Given the description of an element on the screen output the (x, y) to click on. 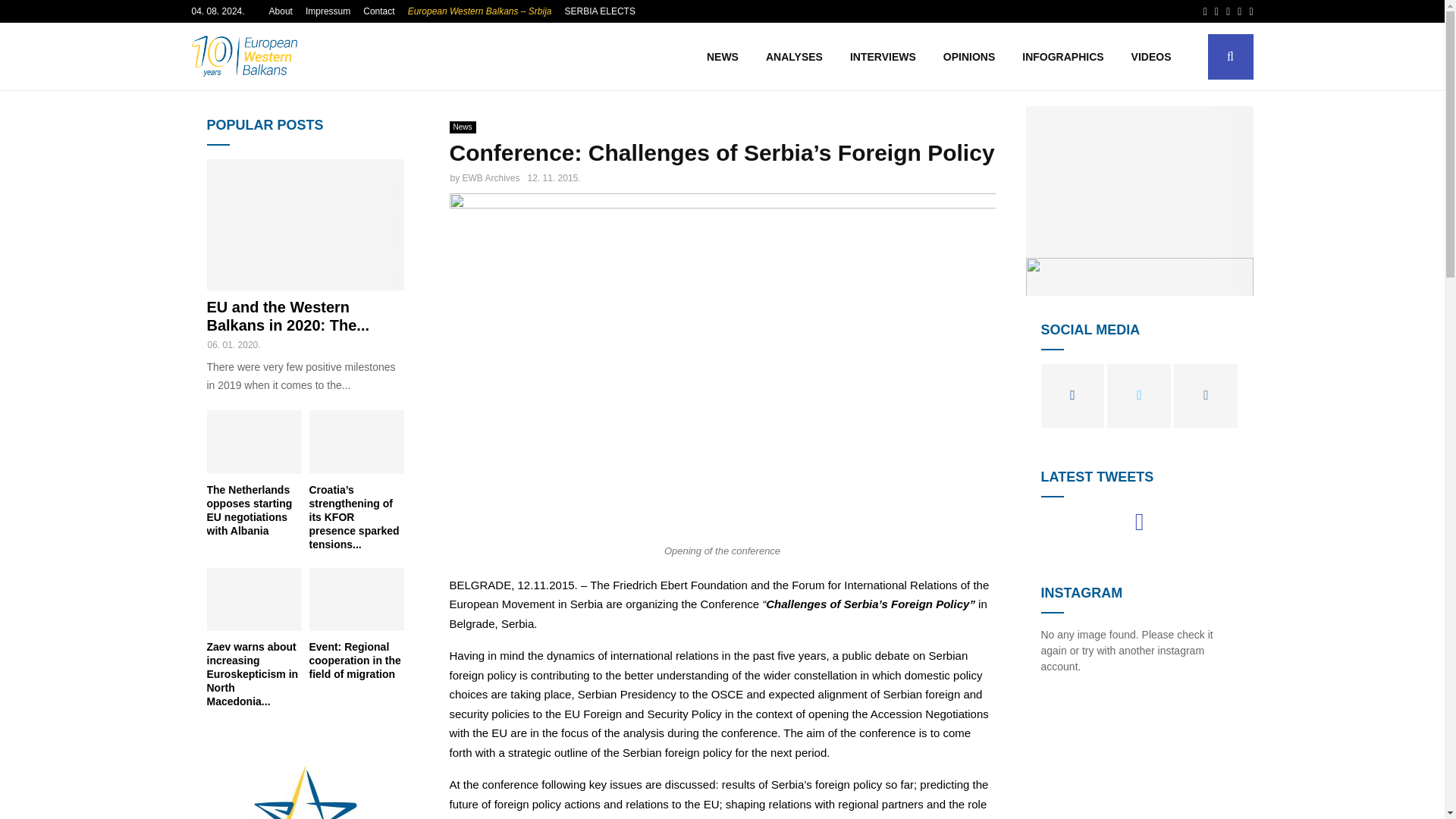
Event: Regional cooperation in the field of migration (356, 599)
EWB Archives (491, 177)
News (462, 127)
INTERVIEWS (882, 56)
 EU and the Western Balkans in 2020: The Year of Decisions  (287, 315)
ANALYSES (793, 56)
OPINIONS (969, 56)
Contact (378, 11)
